Given the description of an element on the screen output the (x, y) to click on. 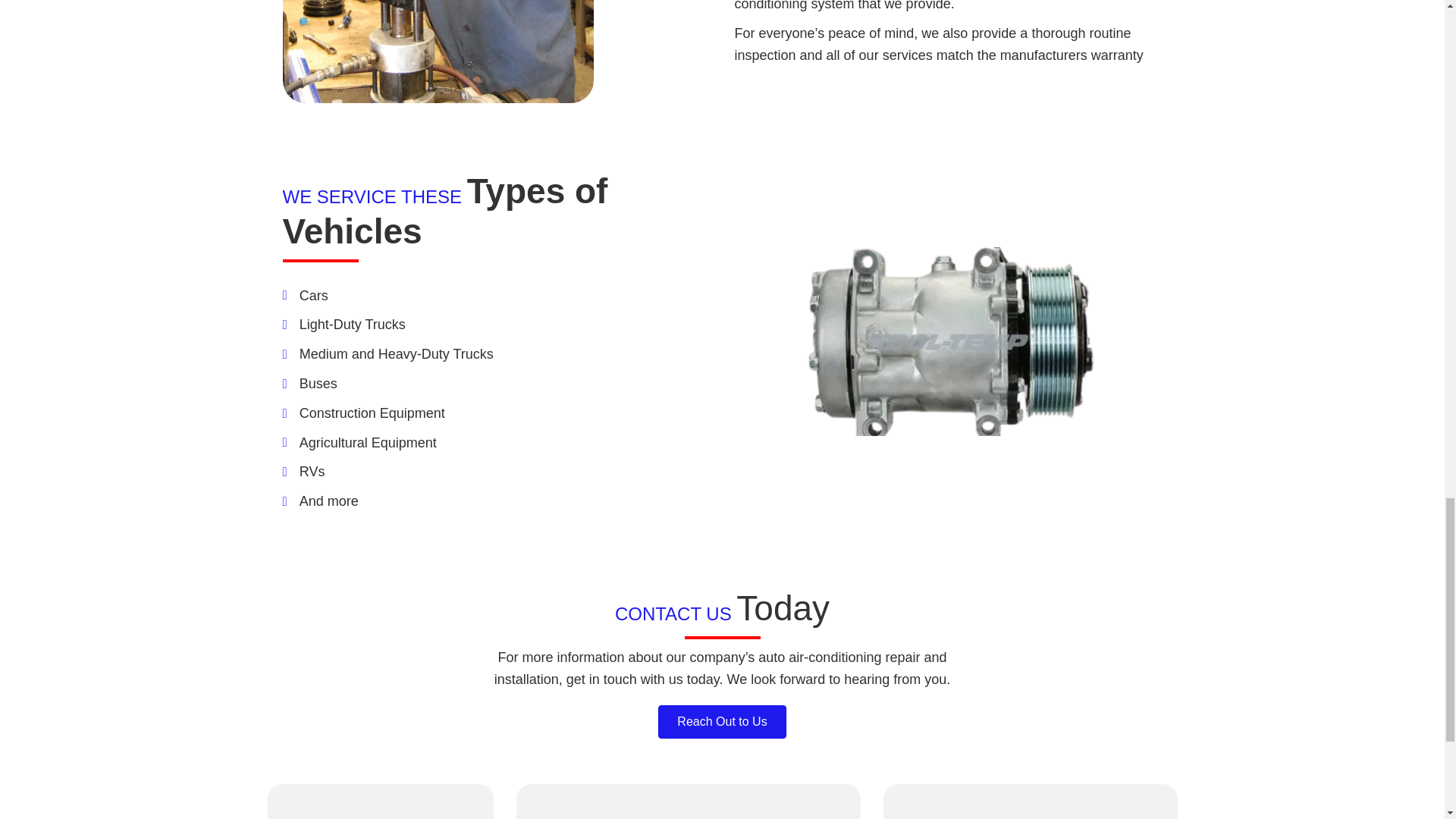
1-removebg-preview (948, 341)
397cee78-b521-4300-95c8-3ae6c3488c06 (437, 51)
MA BLUE 50 (688, 809)
